Given the description of an element on the screen output the (x, y) to click on. 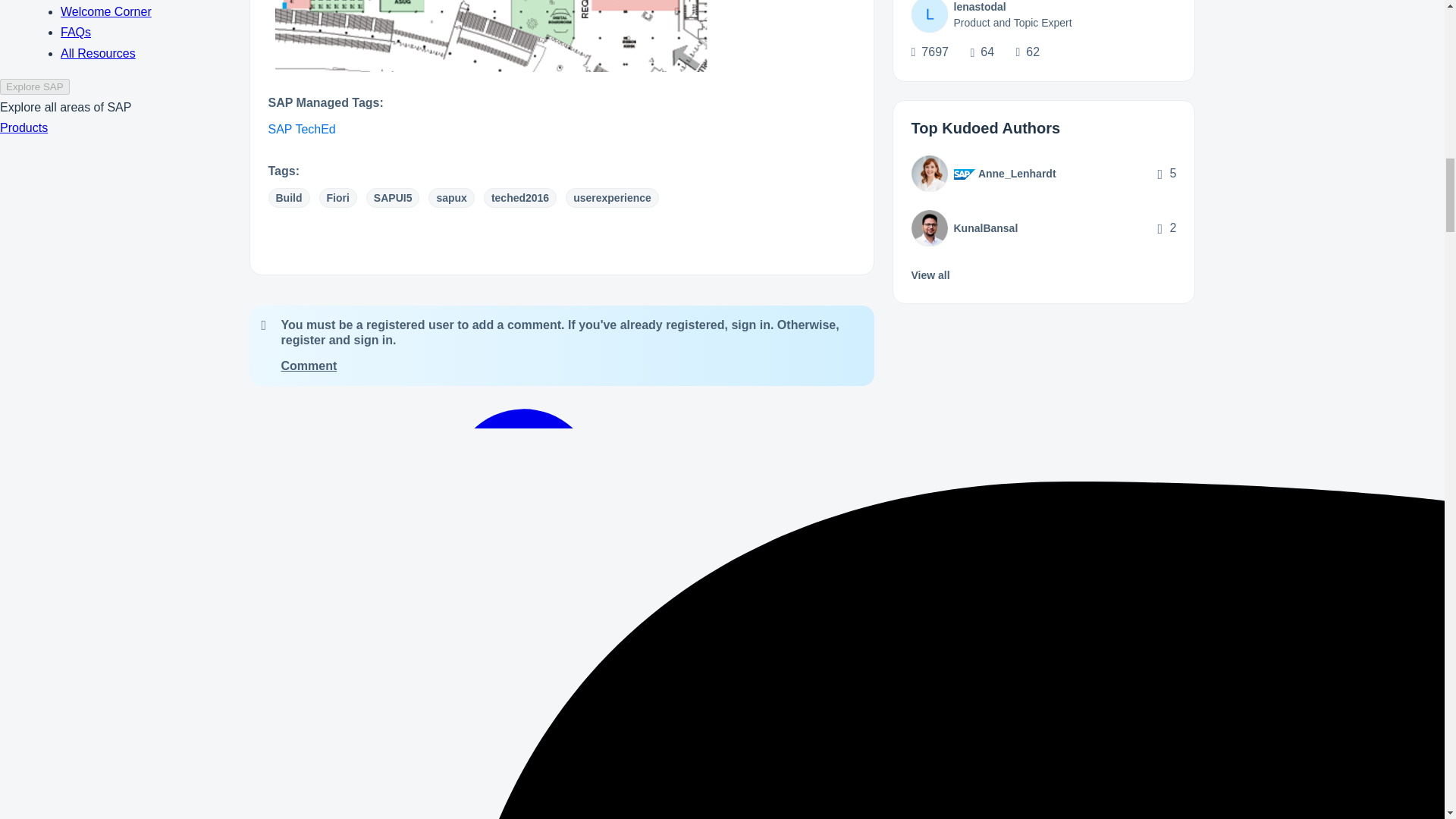
Build (288, 198)
userexperience (612, 198)
Fiori (337, 198)
SAP TechEd (301, 128)
SAPUI5 (393, 198)
sapux (451, 198)
teched2016 (519, 198)
Comment (308, 365)
